Given the description of an element on the screen output the (x, y) to click on. 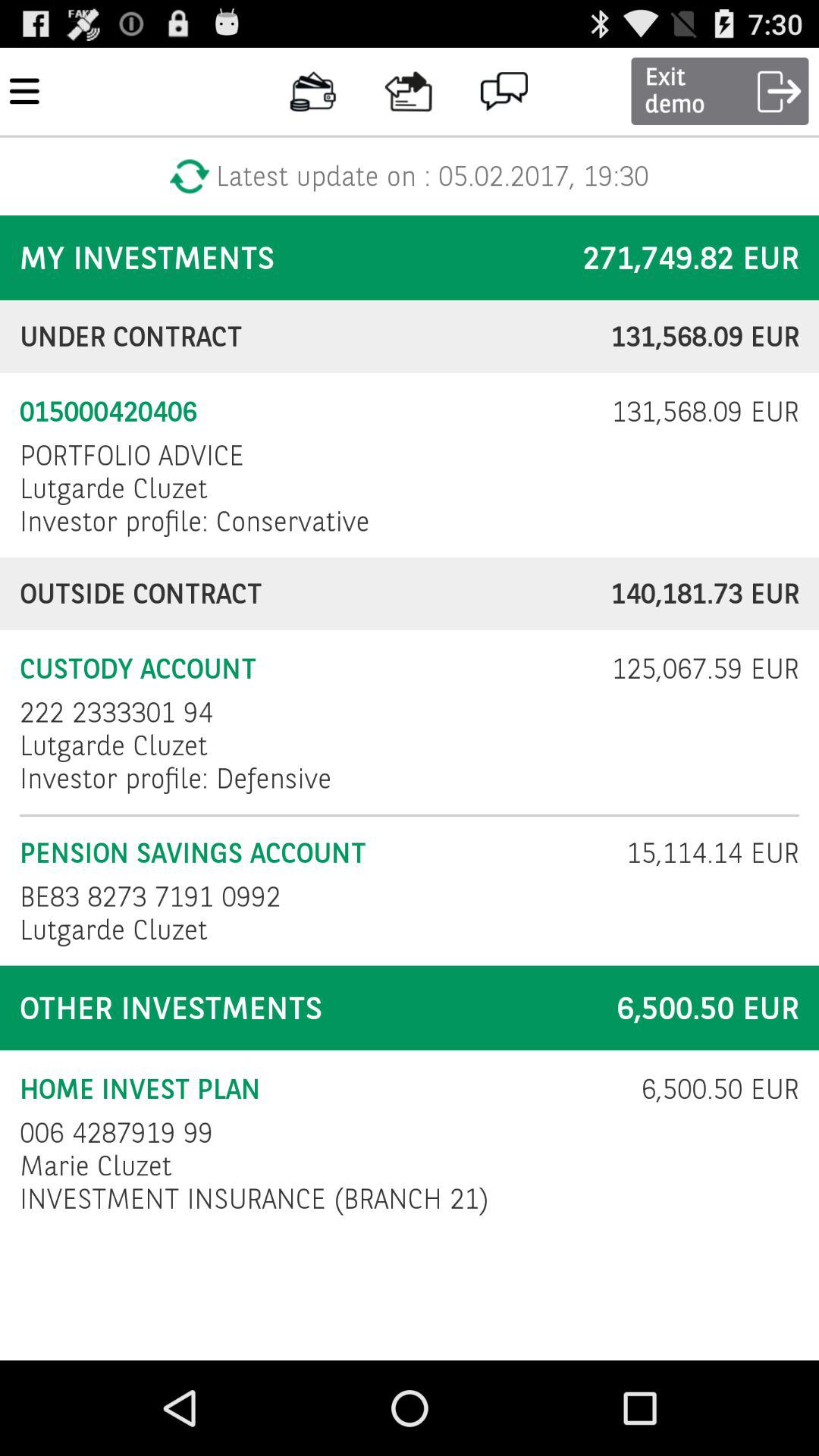
tap item below the home invest plan icon (116, 1132)
